Given the description of an element on the screen output the (x, y) to click on. 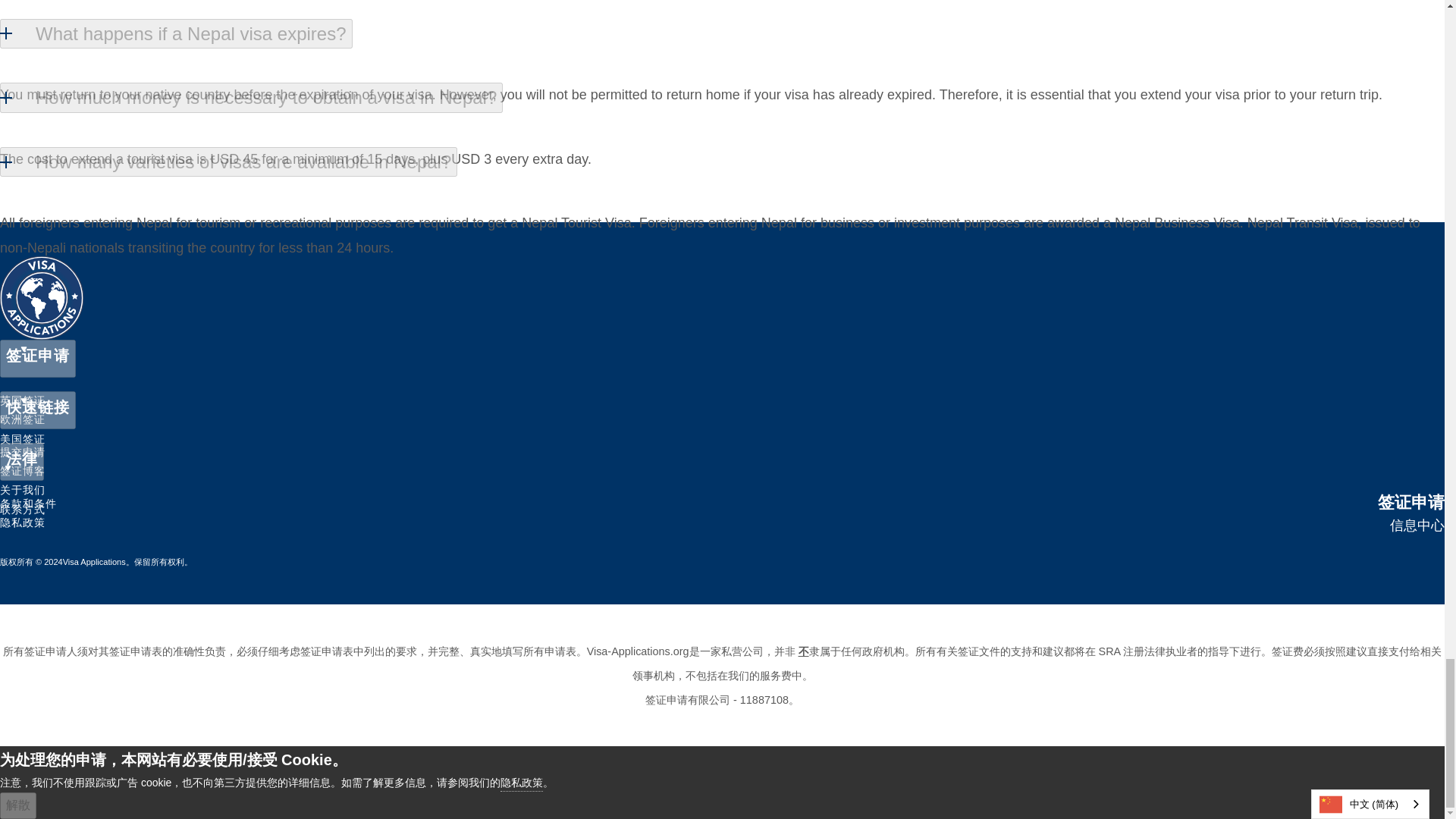
What happens if a Nepal visa expires? (176, 33)
Visa-Applications.org (637, 651)
Visa Applications (93, 561)
How much money is necessary to obtain a visa in Nepal? (251, 97)
How many varieties of visas are available in Nepal? (228, 162)
